Given the description of an element on the screen output the (x, y) to click on. 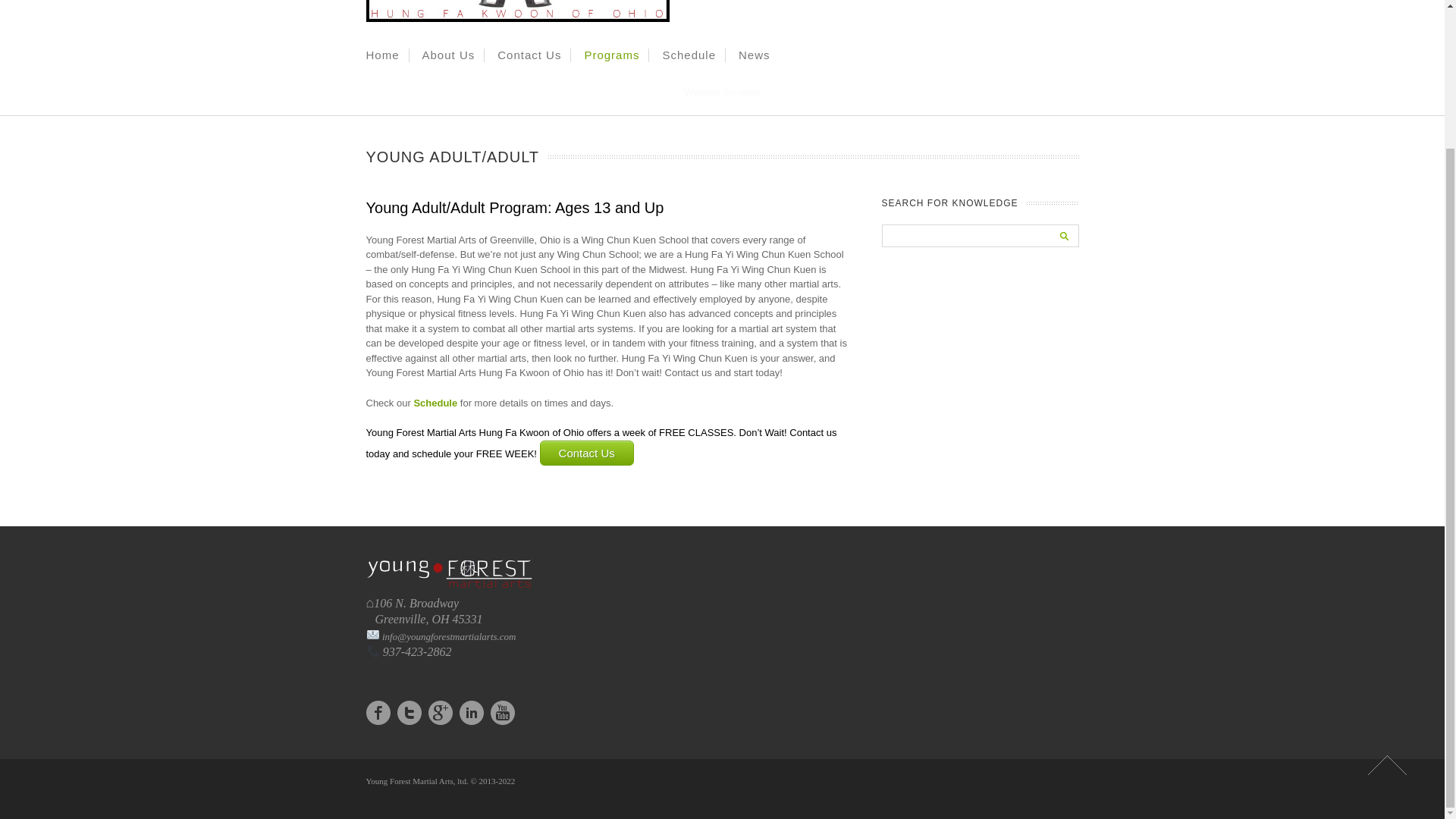
Contact Us (528, 55)
About Us (449, 55)
Website Services (722, 91)
Linkedin (471, 711)
937-423-2862 (408, 651)
Schedule (689, 55)
Facebook (377, 711)
Twitter (409, 711)
Young Forest Martial Arts Class Schedule (435, 401)
Website Services (722, 91)
